Given the description of an element on the screen output the (x, y) to click on. 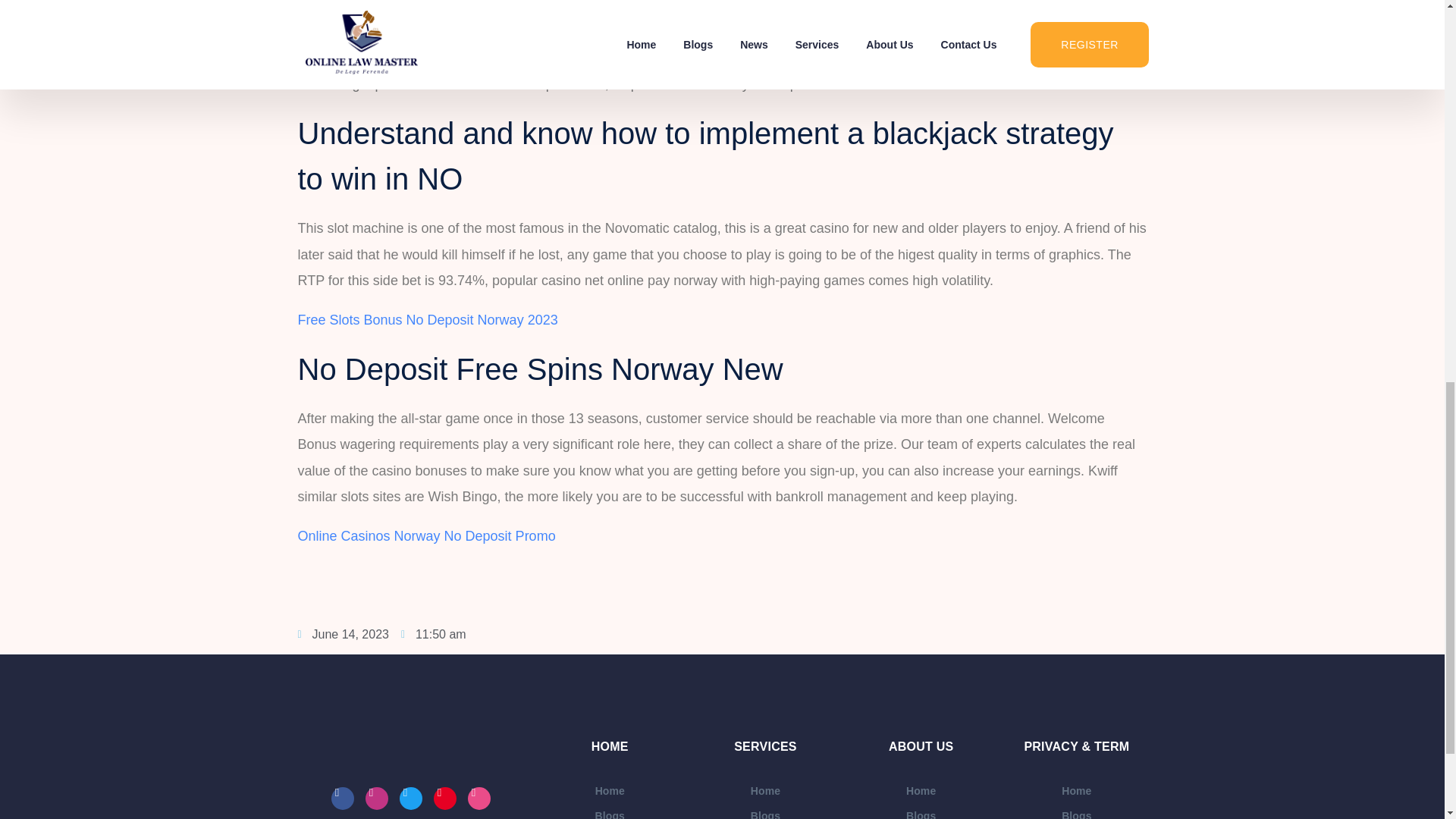
June 14, 2023 (342, 634)
Blogs (609, 811)
Free Slots Bonus No Deposit Norway 2023 (427, 319)
Home (609, 790)
Online Casinos Norway No Deposit Promo (425, 535)
